Given the description of an element on the screen output the (x, y) to click on. 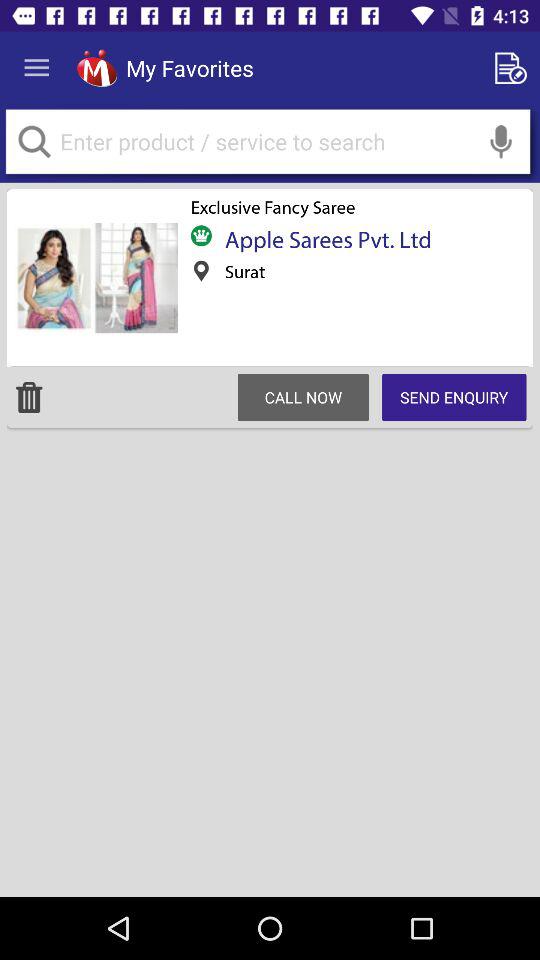
click the exclusive fancy saree icon (272, 207)
